Given the description of an element on the screen output the (x, y) to click on. 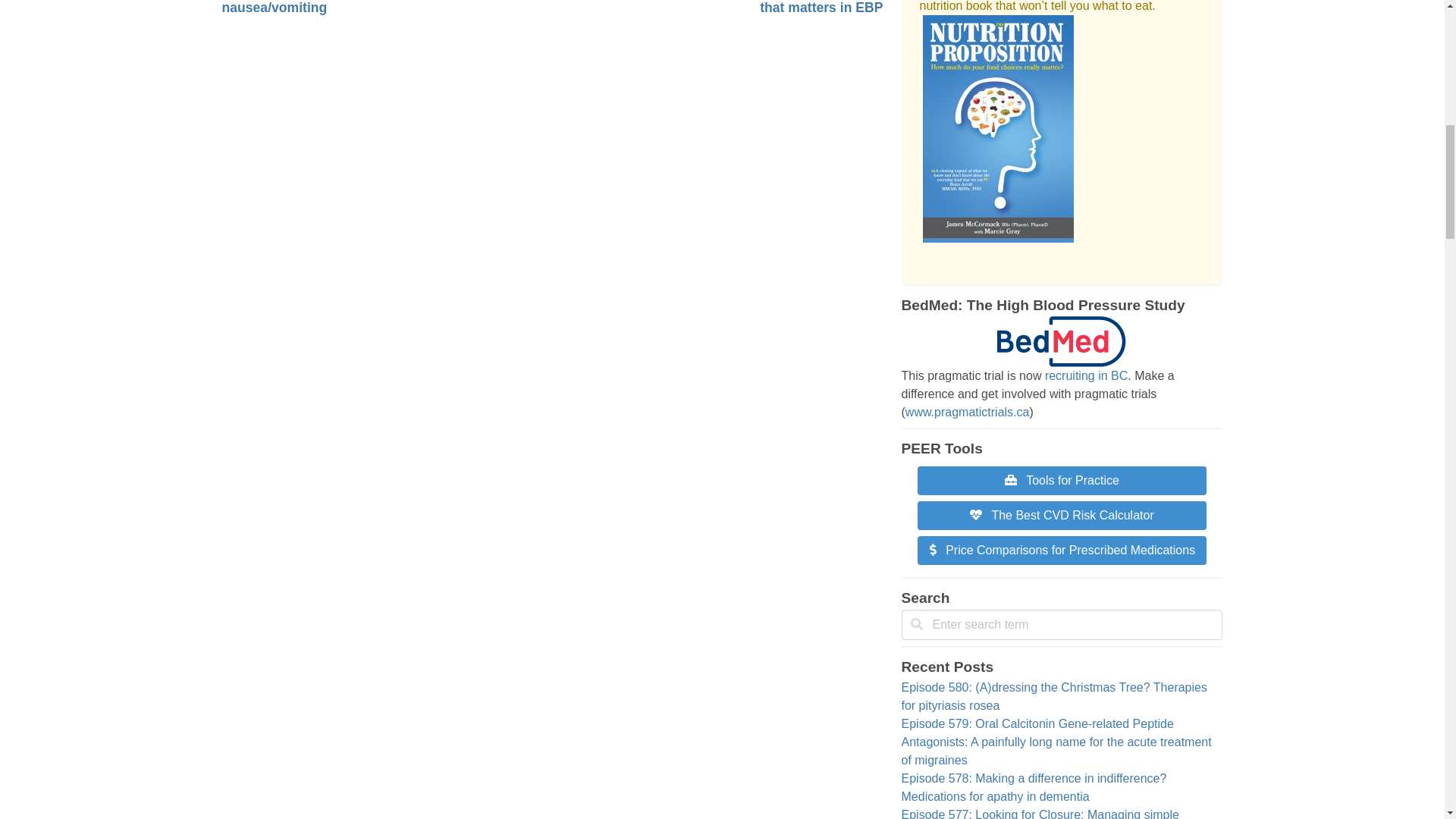
www.pragmatictrials.ca (967, 411)
recruiting in BC (1085, 375)
Tools for Practice (1061, 480)
Price Comparisons for Prescribed Medications (1062, 549)
The Best CVD Risk Calculator (1061, 514)
